Given the description of an element on the screen output the (x, y) to click on. 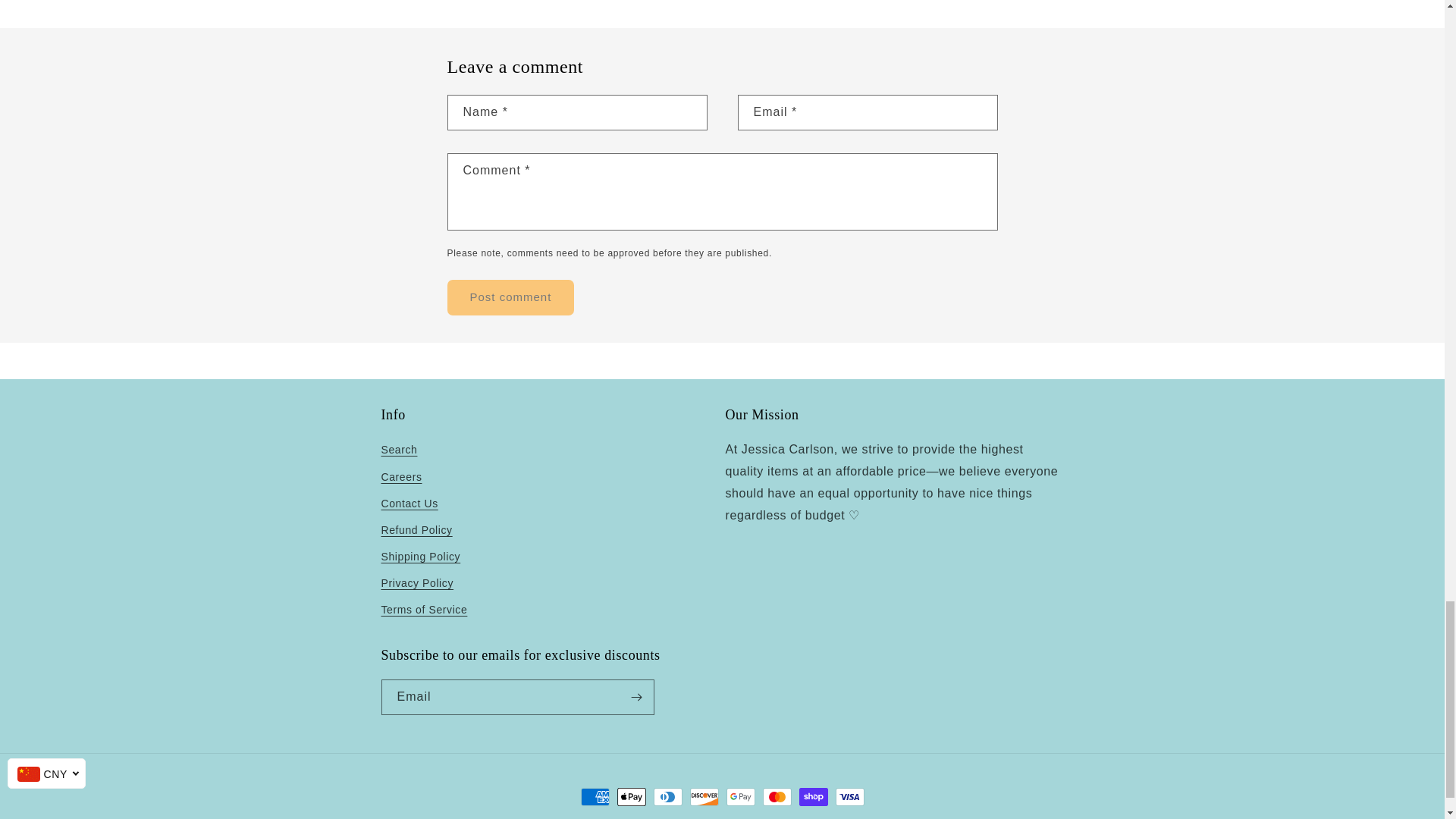
Post comment (510, 297)
